Given the description of an element on the screen output the (x, y) to click on. 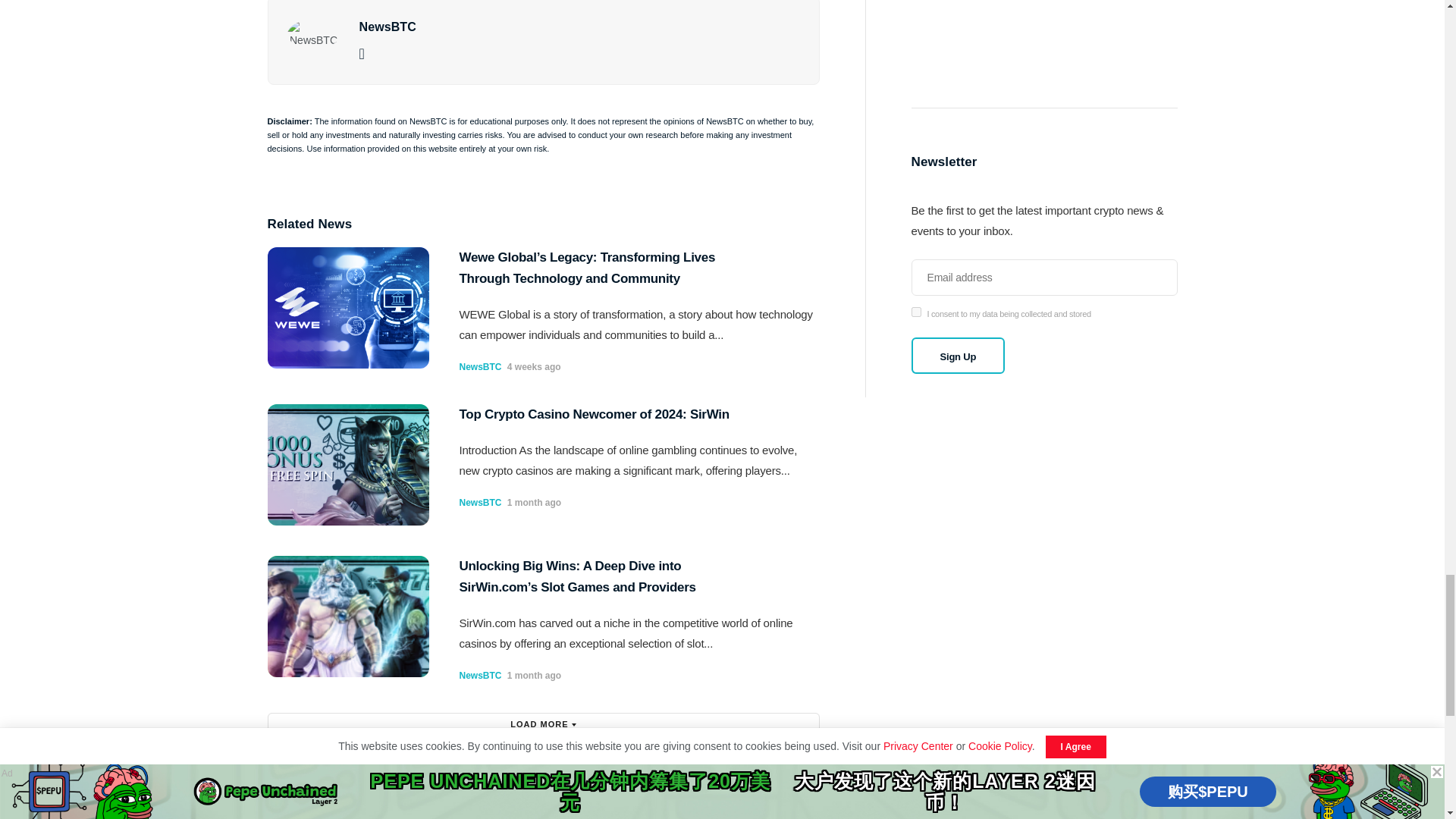
I consent to my data being collected and stored (916, 311)
Sign Up (958, 355)
